Given the description of an element on the screen output the (x, y) to click on. 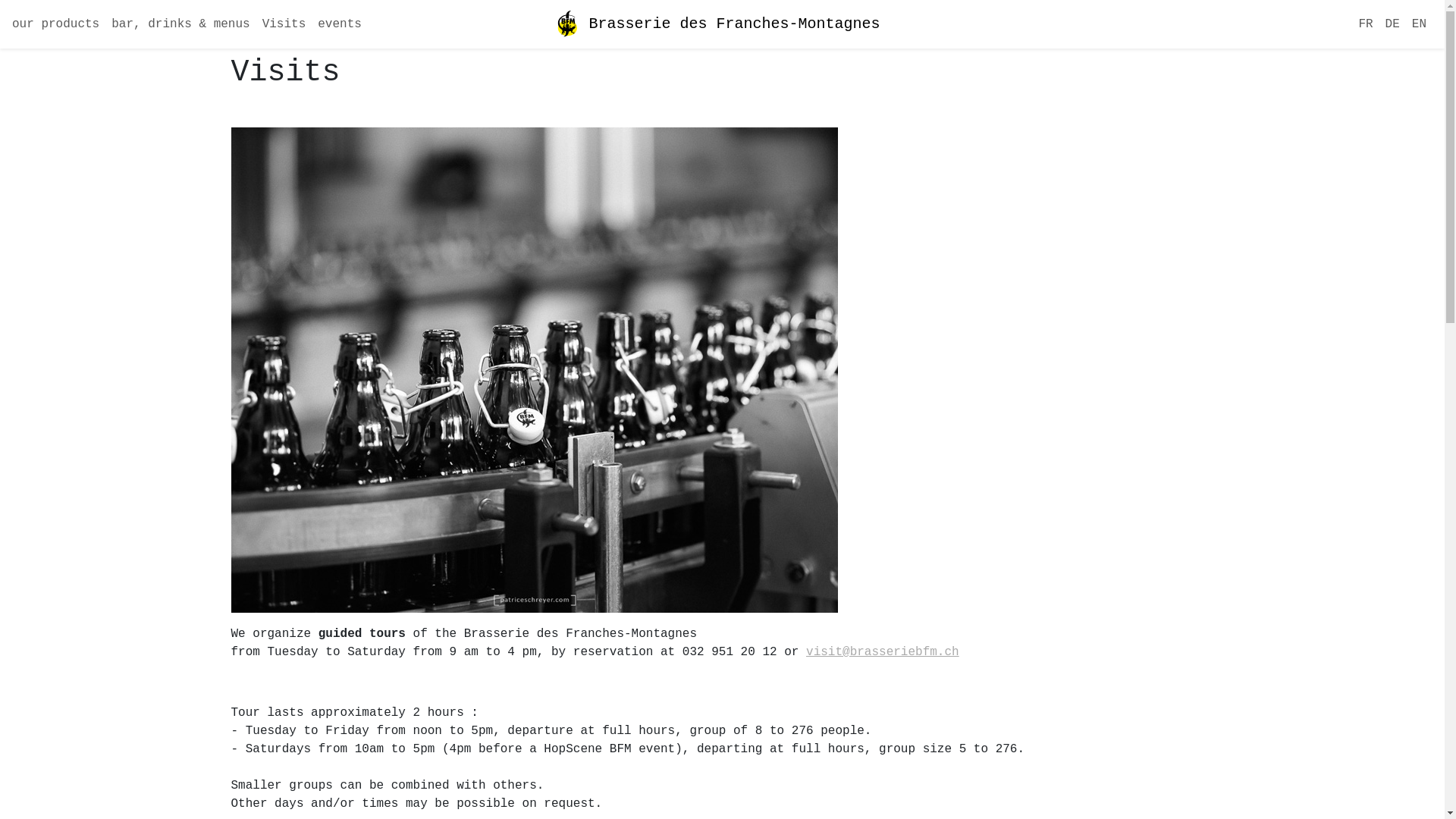
Visits Element type: text (284, 24)
events Element type: text (339, 24)
bar, drinks & menus Element type: text (180, 24)
our products Element type: text (55, 24)
FR Element type: text (1365, 24)
Brasserie des Franches-Montagnes Element type: text (717, 24)
visit@brasseriebfm.ch Element type: text (882, 651)
EN Element type: text (1418, 24)
DE Element type: text (1392, 24)
